Given the description of an element on the screen output the (x, y) to click on. 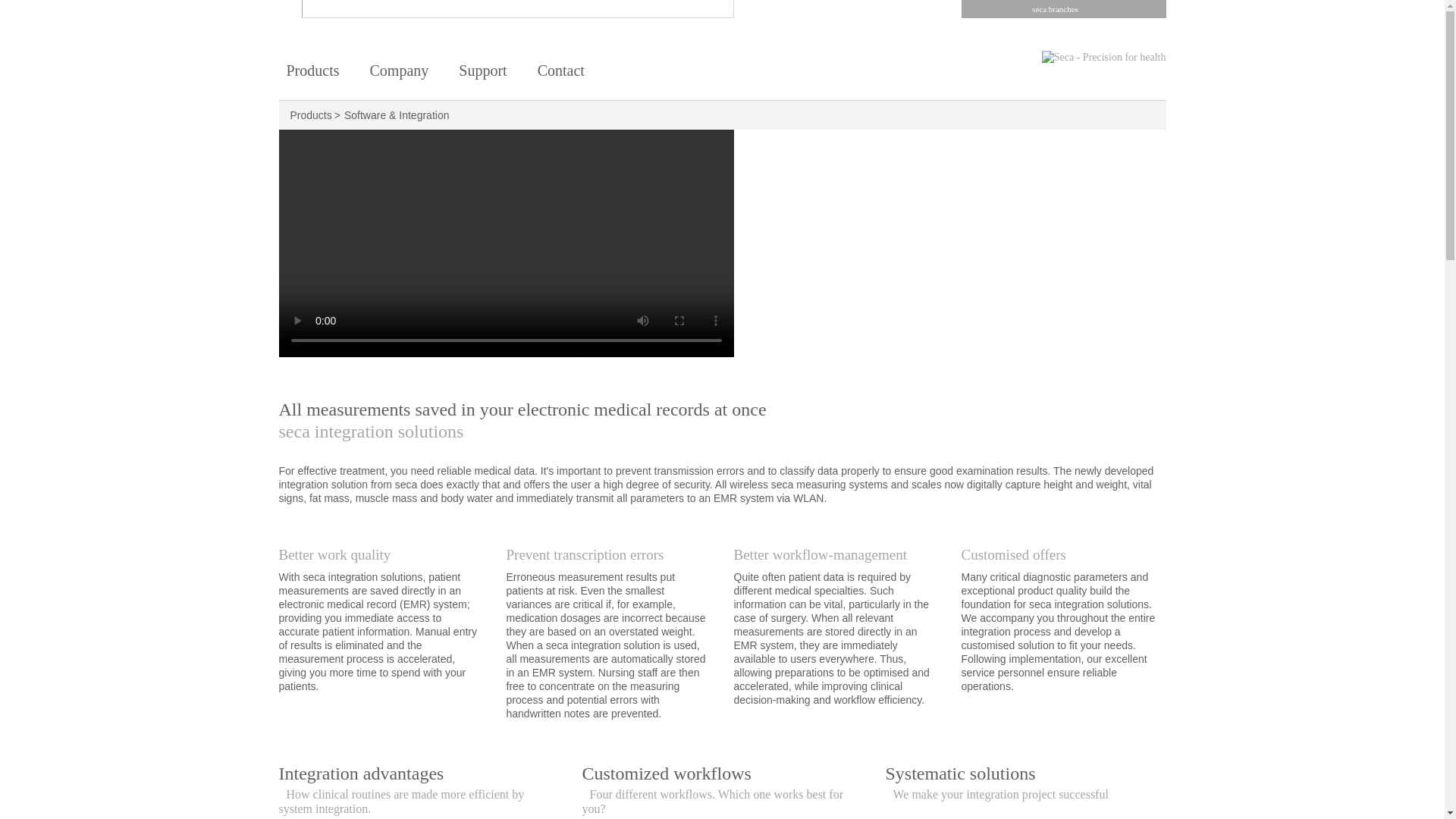
Contact (560, 73)
Products (310, 114)
At home worldwide (560, 73)
seca branches (1063, 9)
back to the startpage of seca (1077, 57)
